Given the description of an element on the screen output the (x, y) to click on. 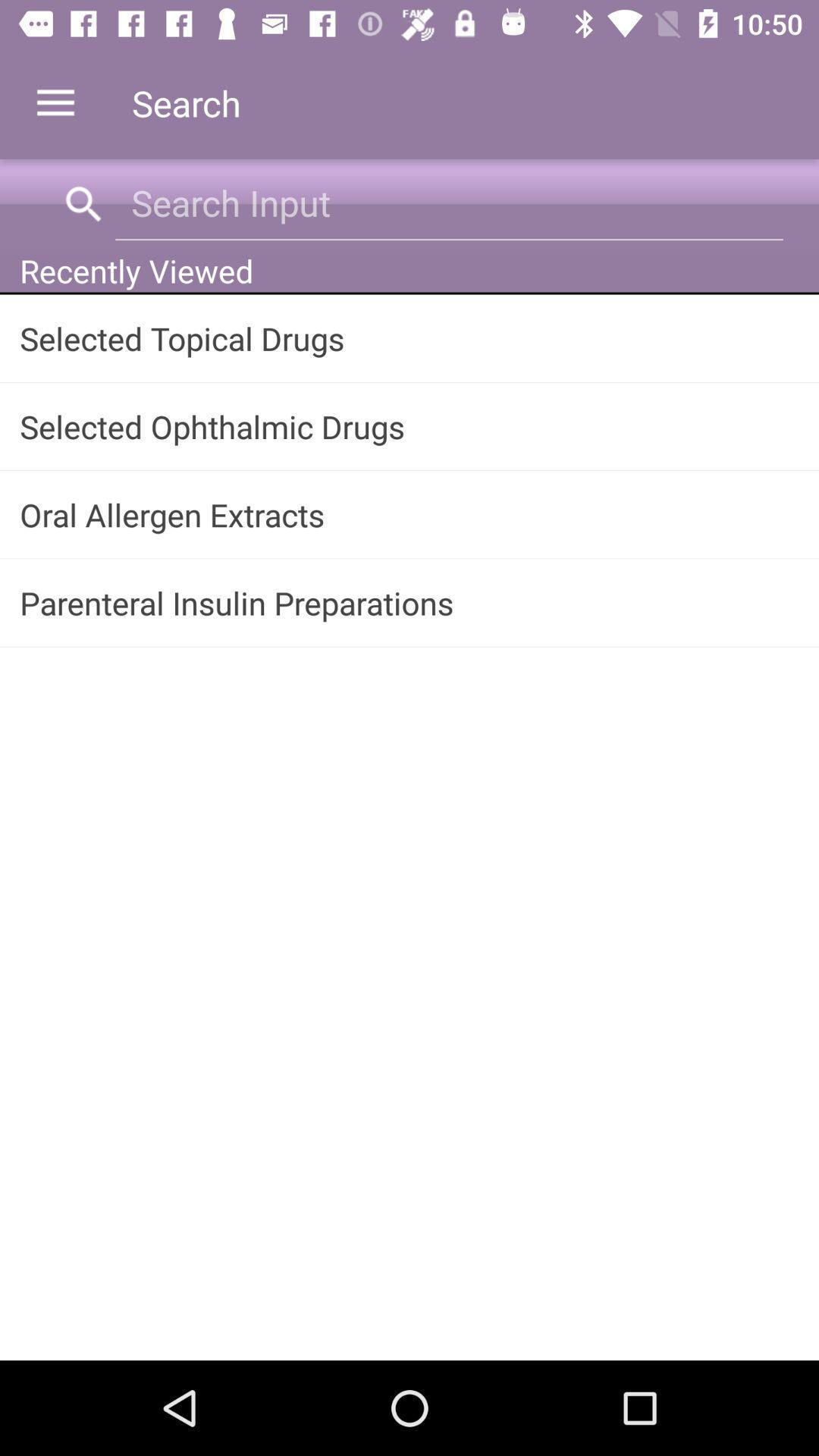
swipe until the selected ophthalmic drugs app (409, 426)
